Given the description of an element on the screen output the (x, y) to click on. 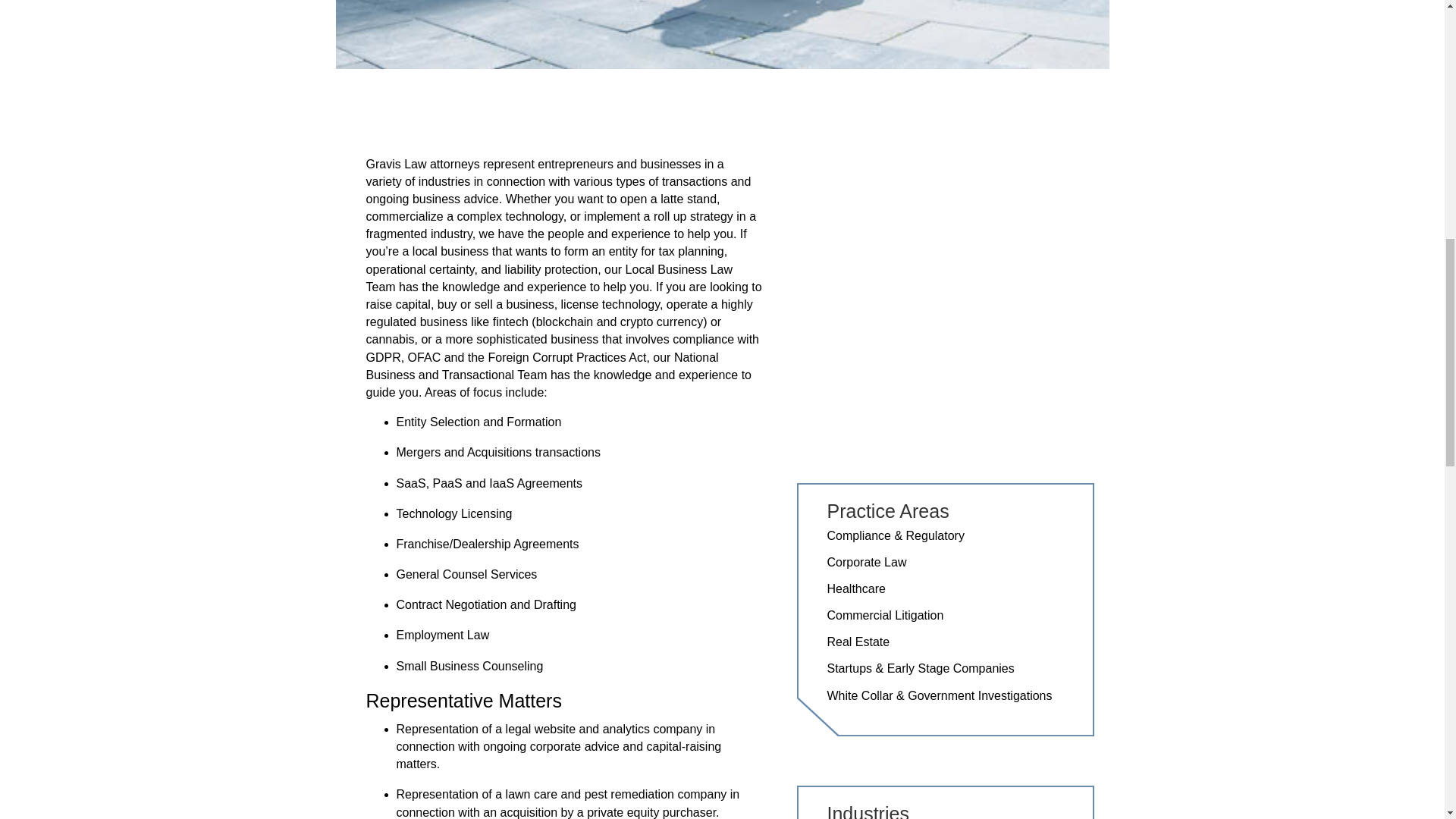
Corporate Law (866, 562)
Healthcare (856, 588)
Commercial Litigation (885, 615)
Real Estate (858, 641)
